Given the description of an element on the screen output the (x, y) to click on. 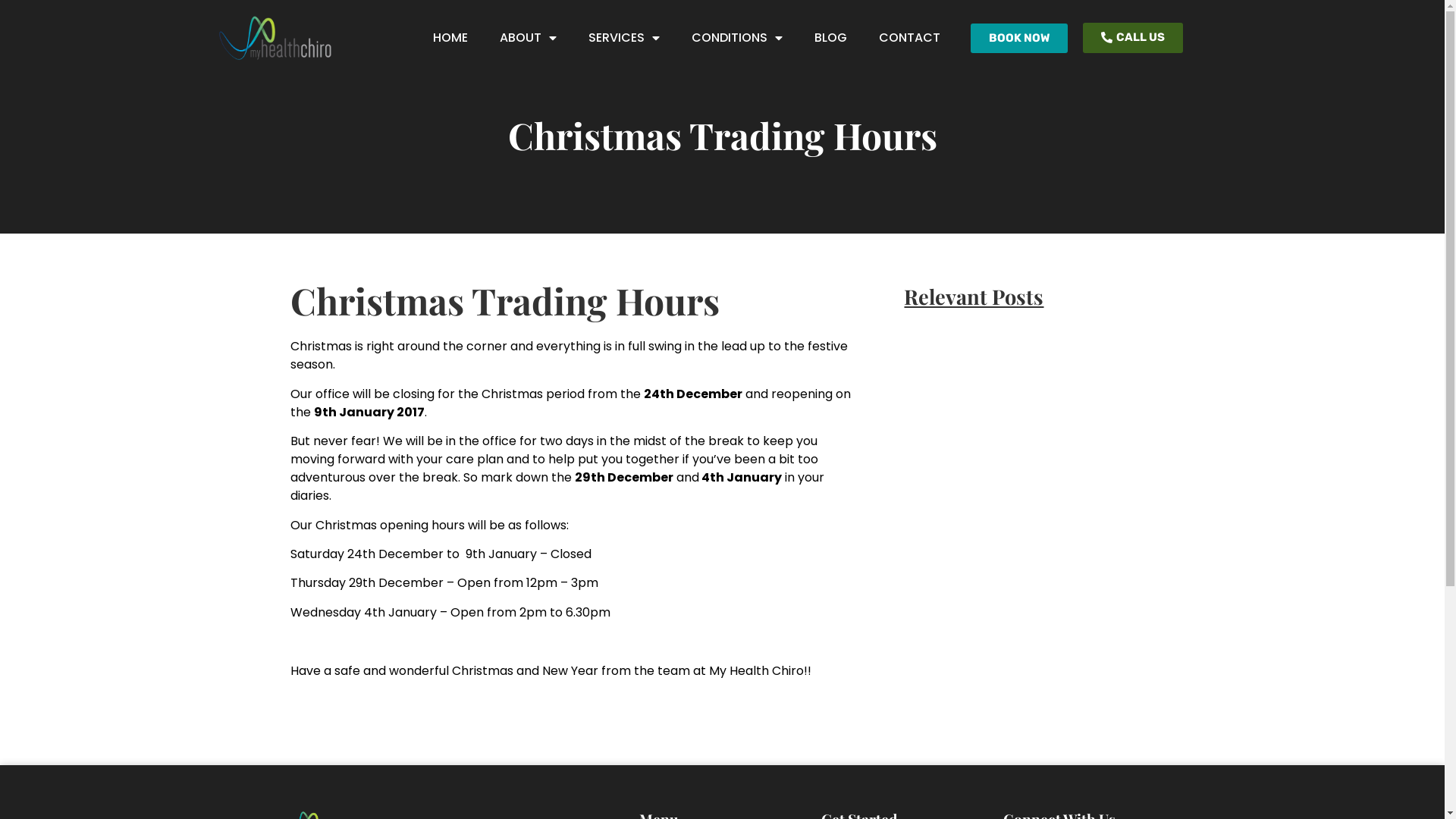
SERVICES Element type: text (623, 37)
CALL US Element type: text (1132, 37)
HOME Element type: text (450, 37)
CONDITIONS Element type: text (736, 37)
BOOK NOW Element type: text (1018, 38)
CONTACT Element type: text (909, 37)
ABOUT Element type: text (527, 37)
BLOG Element type: text (830, 37)
